Given the description of an element on the screen output the (x, y) to click on. 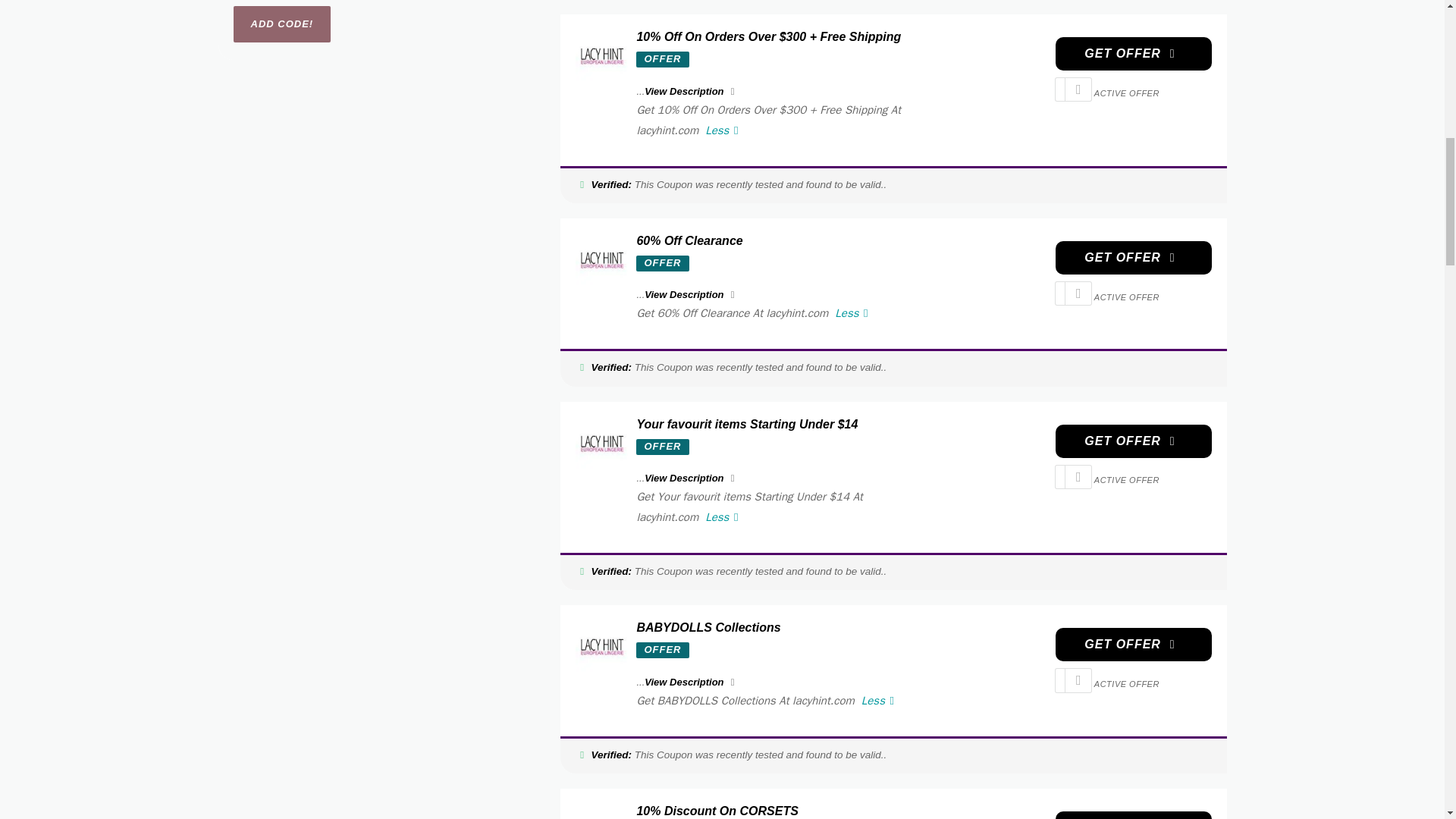
  Less (851, 313)
GET OFFER (1133, 53)
Add Code (281, 23)
Add Code! (281, 23)
GET OFFER (1133, 257)
GET OFFER (1133, 441)
  Less (721, 517)
  Less (721, 130)
